Given the description of an element on the screen output the (x, y) to click on. 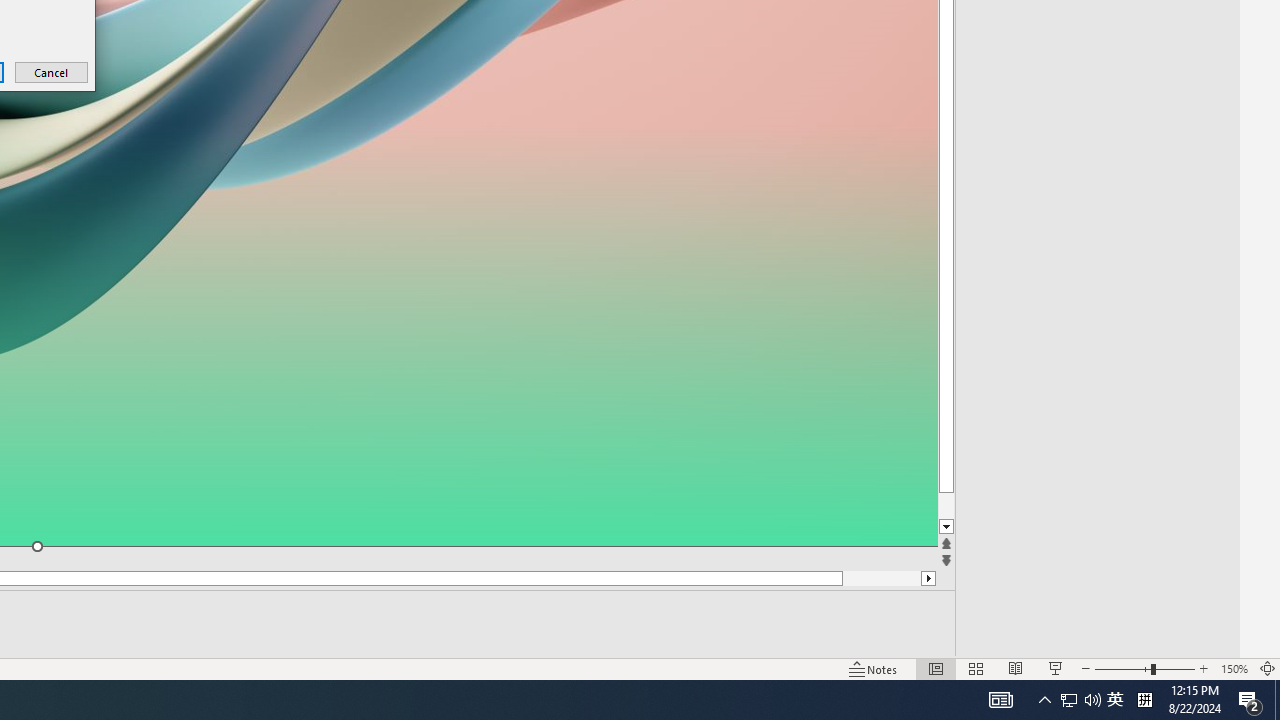
Zoom 150% (1234, 668)
Cancel (51, 72)
